Given the description of an element on the screen output the (x, y) to click on. 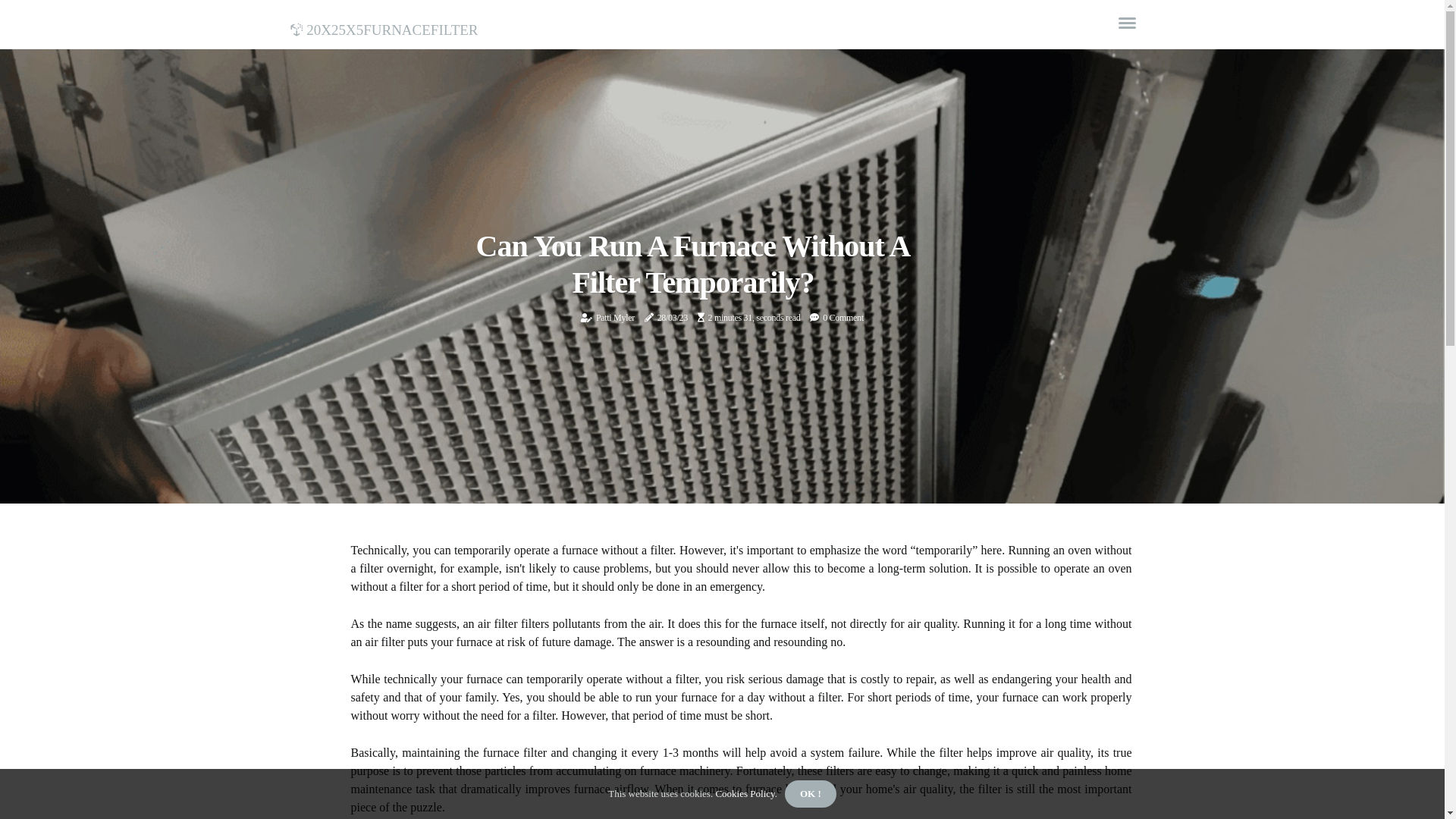
Patti Myler Element type: text (615, 317)
0 Comment Element type: text (842, 317)
20x25x5furnacefilter Element type: text (383, 26)
Cookies Policy Element type: text (743, 793)
